Given the description of an element on the screen output the (x, y) to click on. 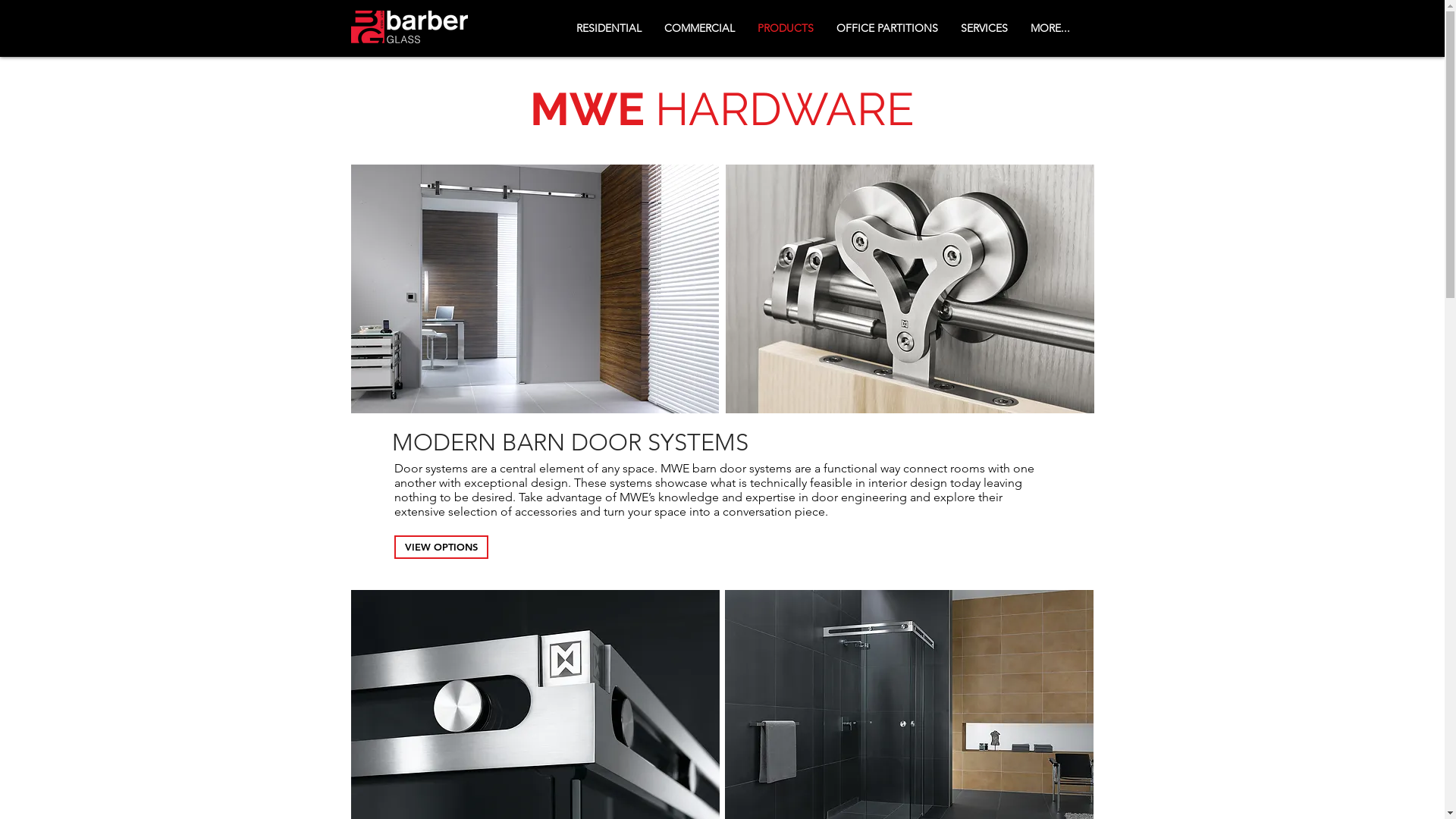
OFFICE PARTITIONS Element type: text (887, 27)
VIEW OPTIONS Element type: text (441, 546)
PRODUCTS Element type: text (785, 27)
RESIDENTIAL Element type: text (608, 27)
SERVICES Element type: text (984, 27)
COMMERCIAL Element type: text (698, 27)
